Given the description of an element on the screen output the (x, y) to click on. 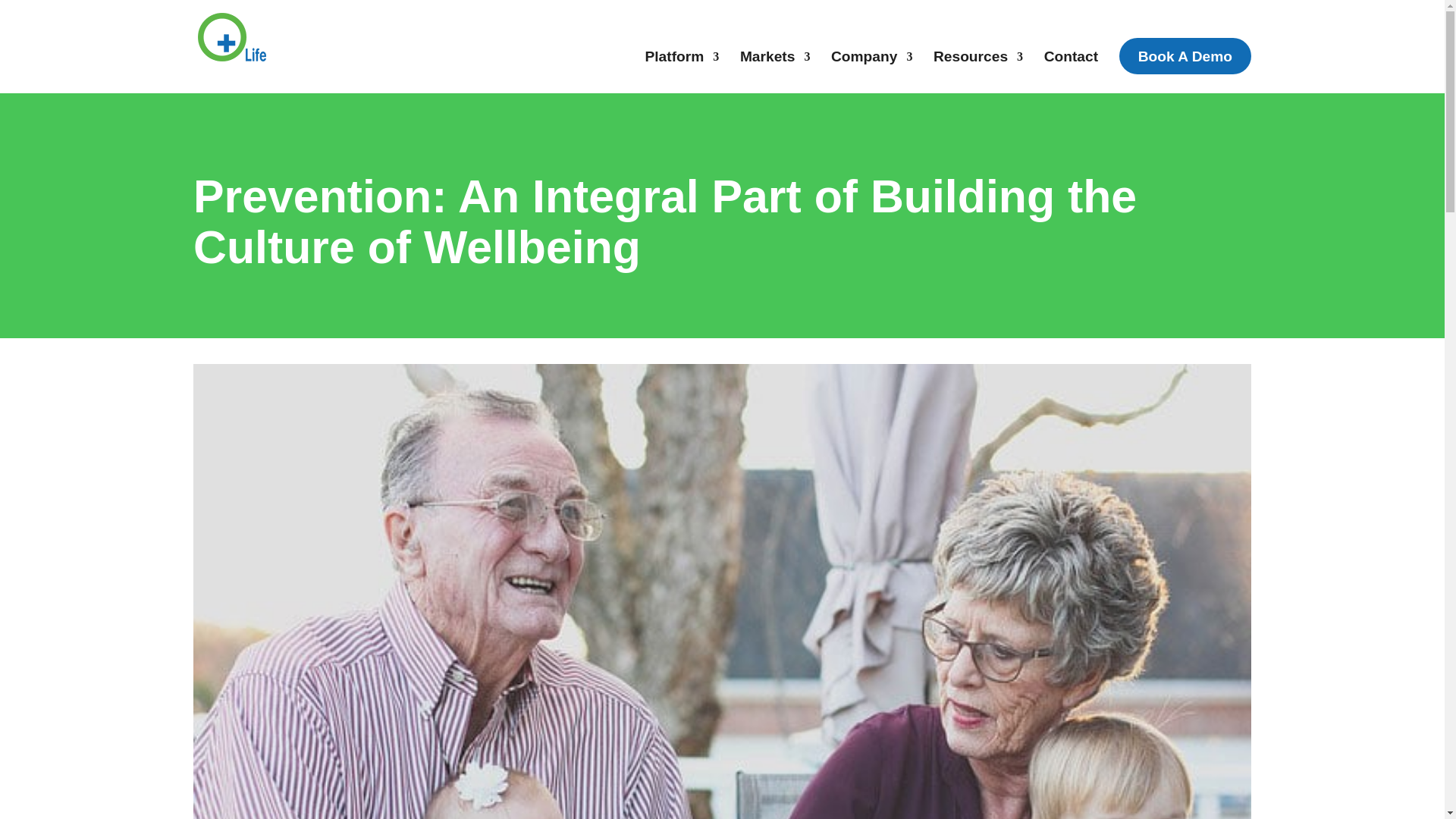
Resources (978, 62)
Contact (1070, 62)
Company (871, 62)
Markets (774, 62)
Platform (682, 62)
Book A Demo (1184, 55)
